Given the description of an element on the screen output the (x, y) to click on. 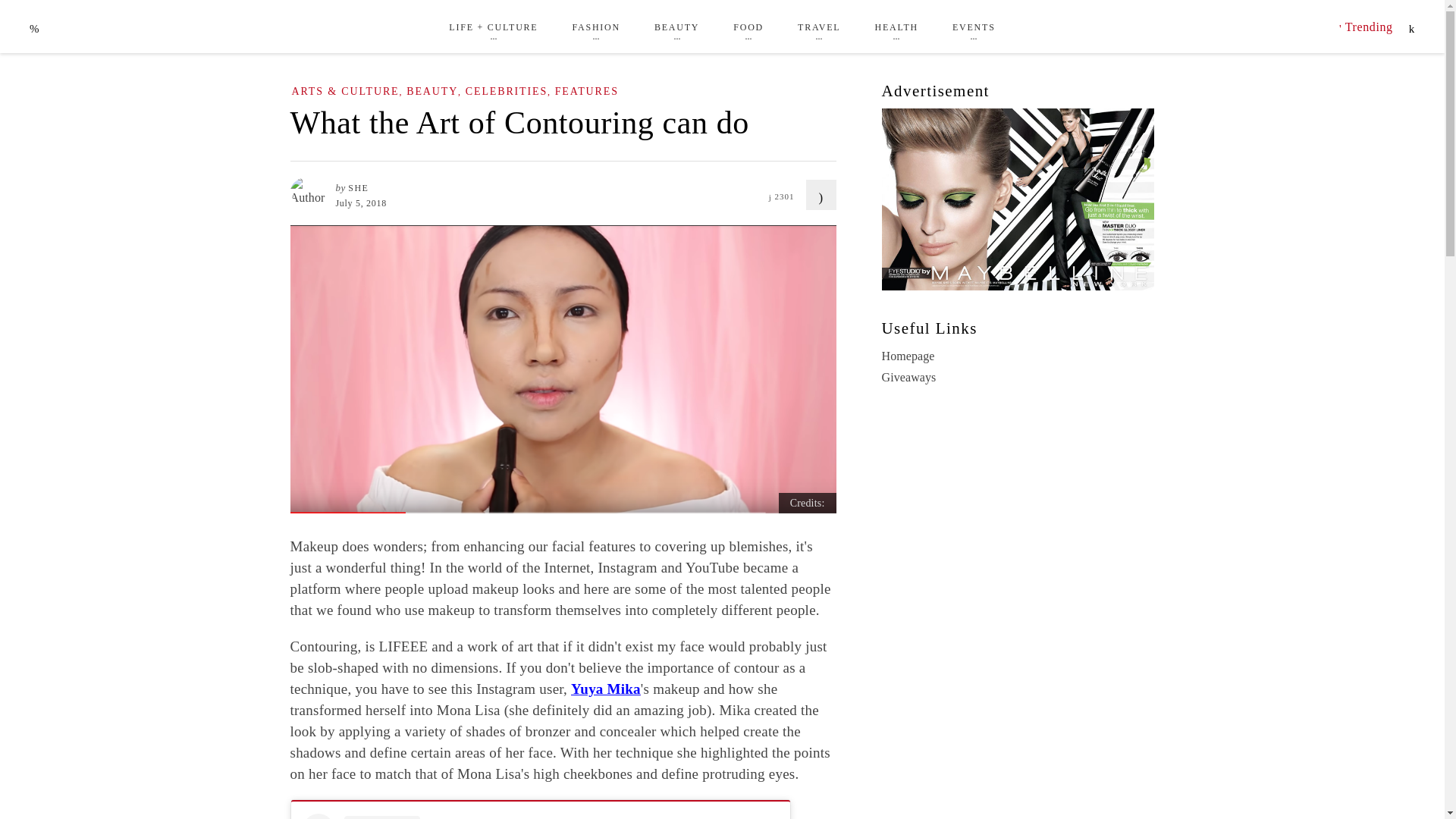
FASHION (595, 27)
Posts by SHE (357, 187)
Share on Facebook (820, 194)
July 5, 2018 1:00 (359, 203)
VIEWS (787, 187)
BEAUTY (676, 27)
